Given the description of an element on the screen output the (x, y) to click on. 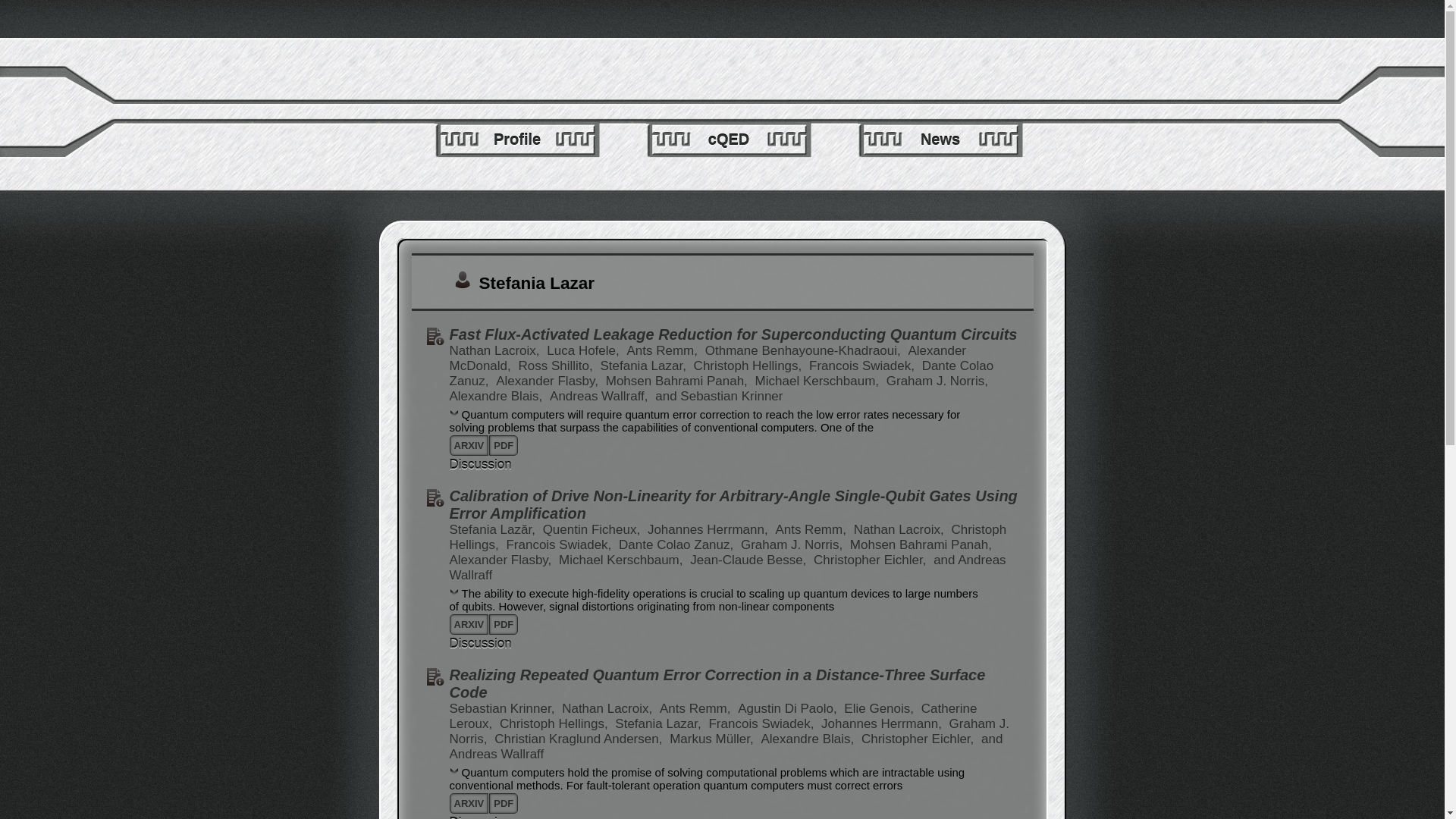
Michael Kerschbaum, (622, 559)
Jean-Claude Besse, (749, 559)
Alexander McDonald, (707, 358)
Alexandre Blais, (497, 396)
Graham J. Norris, (937, 380)
Nathan Lacroix, (900, 529)
and Sebastian Krinner (719, 396)
News (939, 139)
Luca Hofele, (585, 350)
Graham J. Norris, (793, 544)
Quentin Ficheux, (593, 529)
Skip to content (417, 55)
Johannes Herrmann, (709, 529)
Ross Shillito, (556, 365)
